Given the description of an element on the screen output the (x, y) to click on. 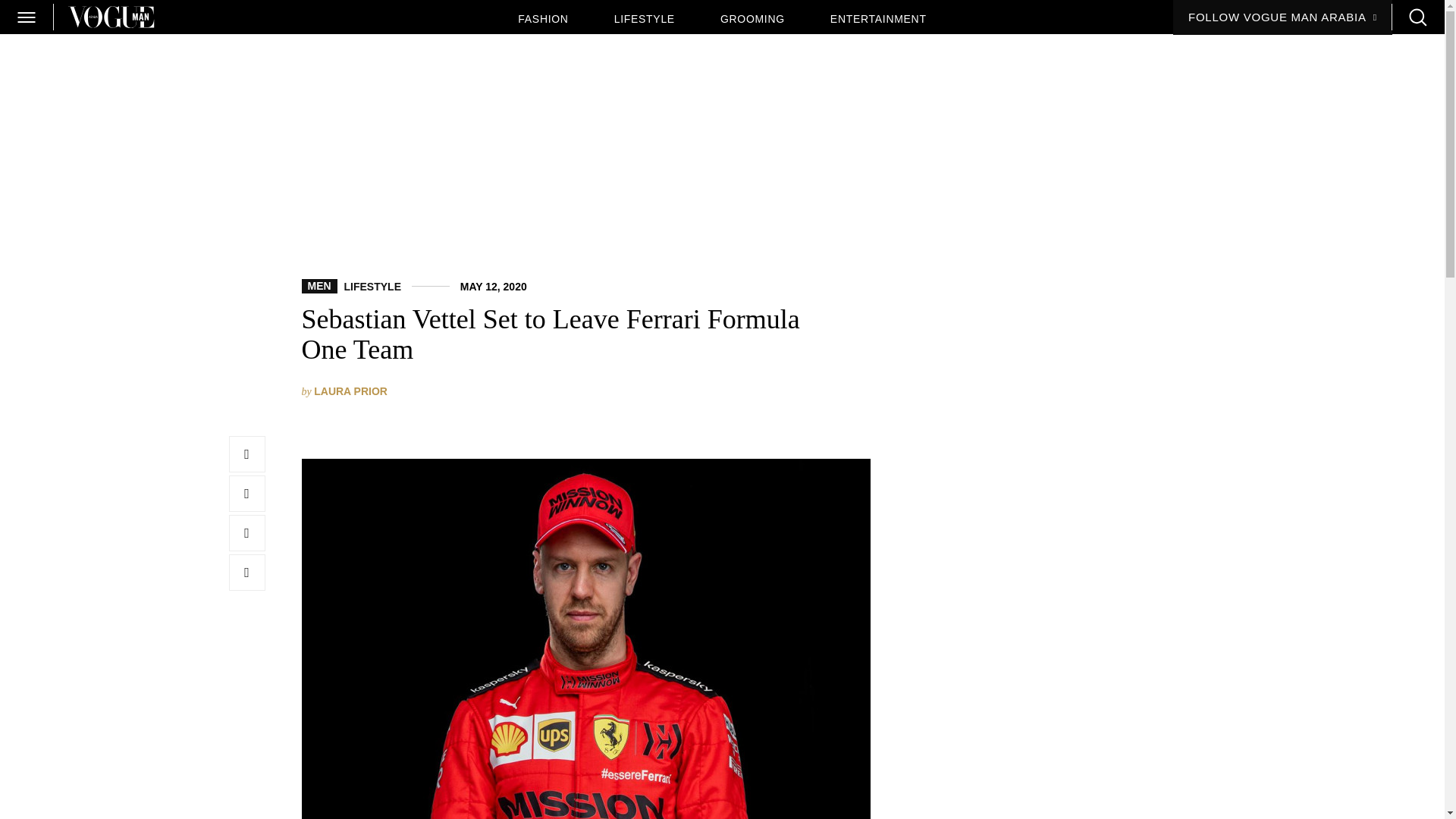
ENTERTAINMENT (877, 19)
LAURA PRIOR (350, 390)
Posts by Laura Prior (350, 390)
FASHION (542, 19)
LIFESTYLE (644, 19)
GROOMING (752, 19)
LIFESTYLE (372, 286)
